Given the description of an element on the screen output the (x, y) to click on. 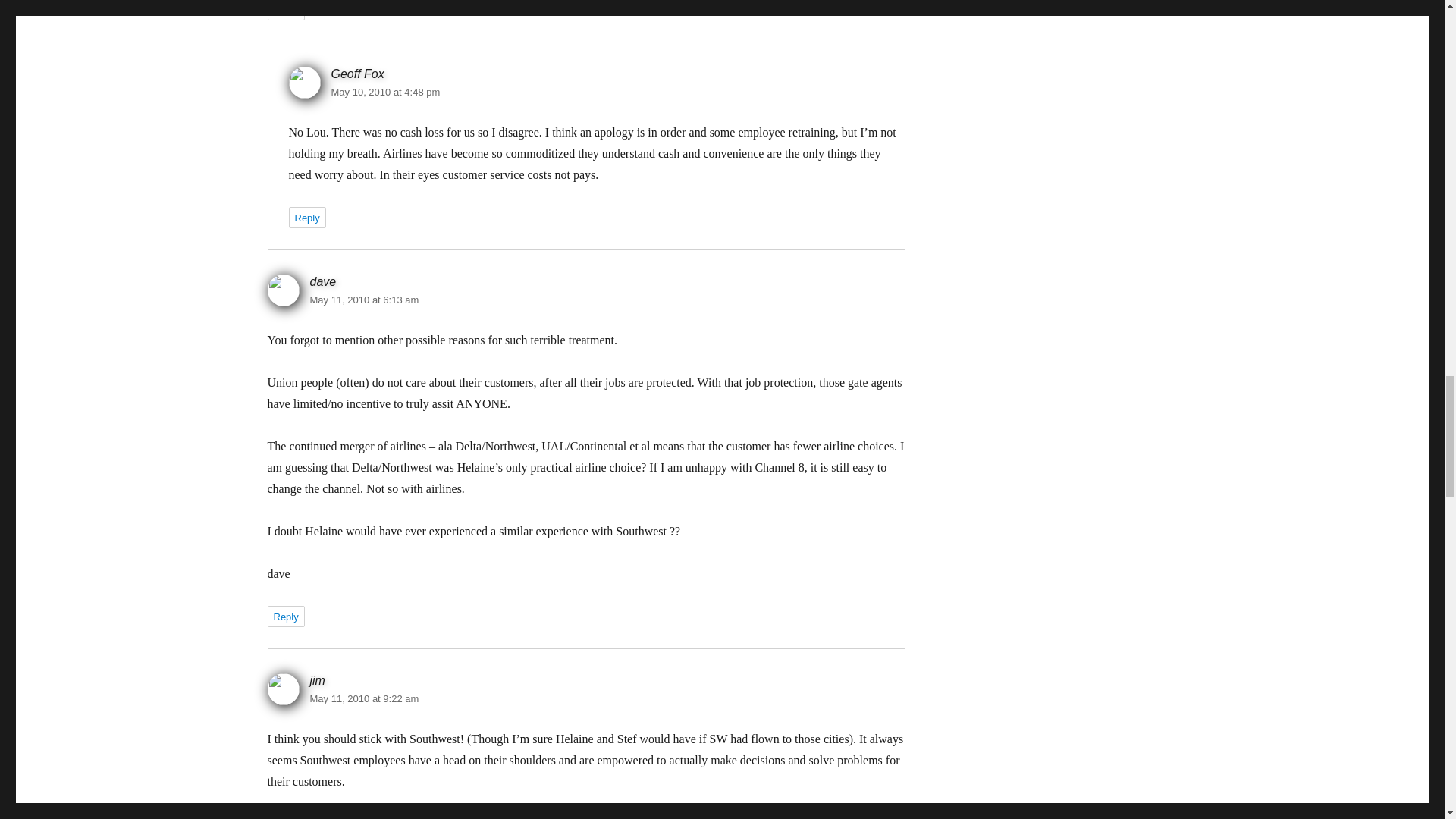
Reply (306, 217)
Reply (285, 816)
May 11, 2010 at 6:13 am (363, 299)
Reply (285, 616)
May 10, 2010 at 4:48 pm (384, 91)
Reply (285, 10)
May 11, 2010 at 9:22 am (363, 698)
